Given the description of an element on the screen output the (x, y) to click on. 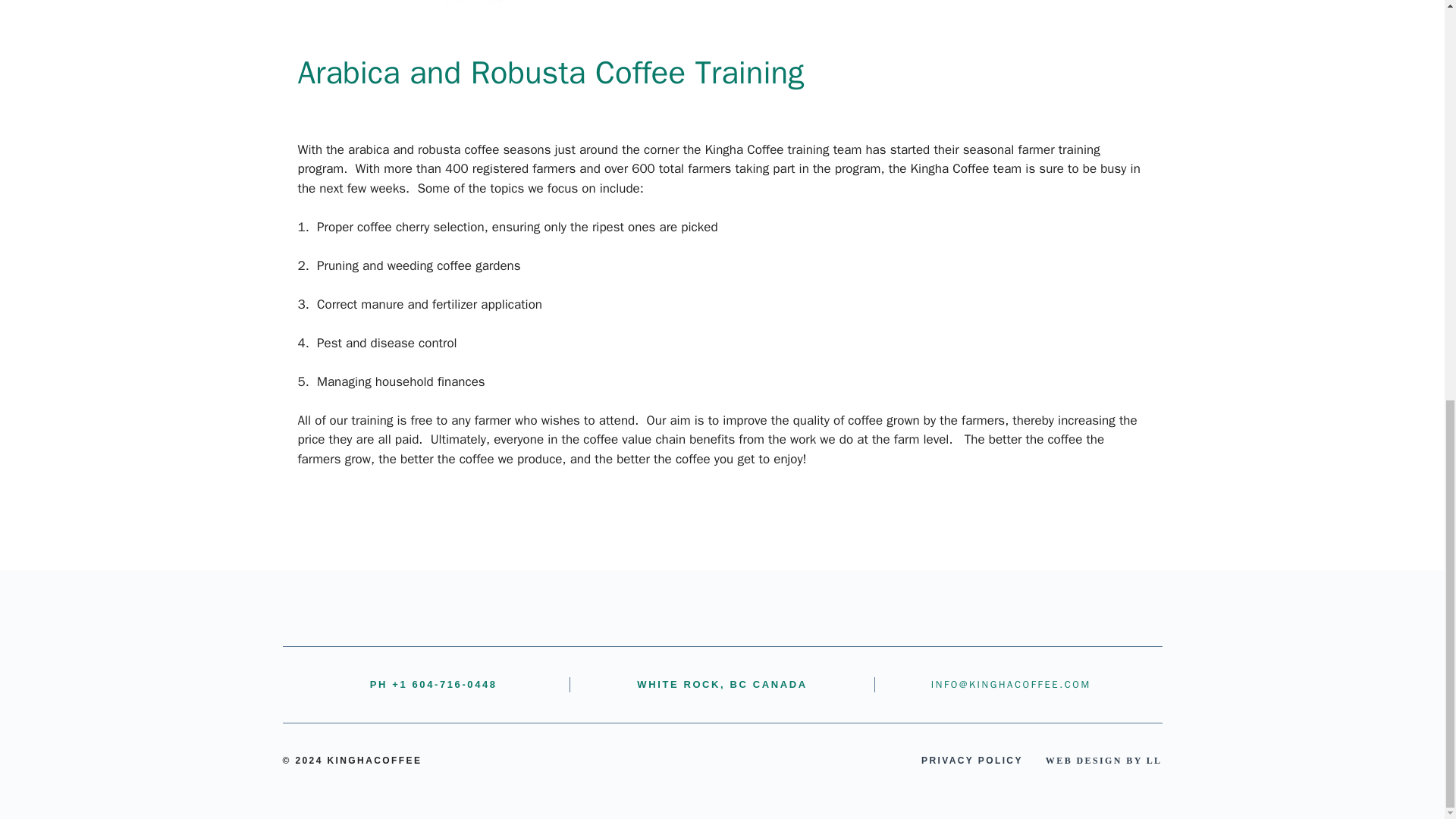
coffee buying (346, 498)
Scroll back to top (1406, 757)
WEB DESIGN BY LL (1103, 760)
